Given the description of an element on the screen output the (x, y) to click on. 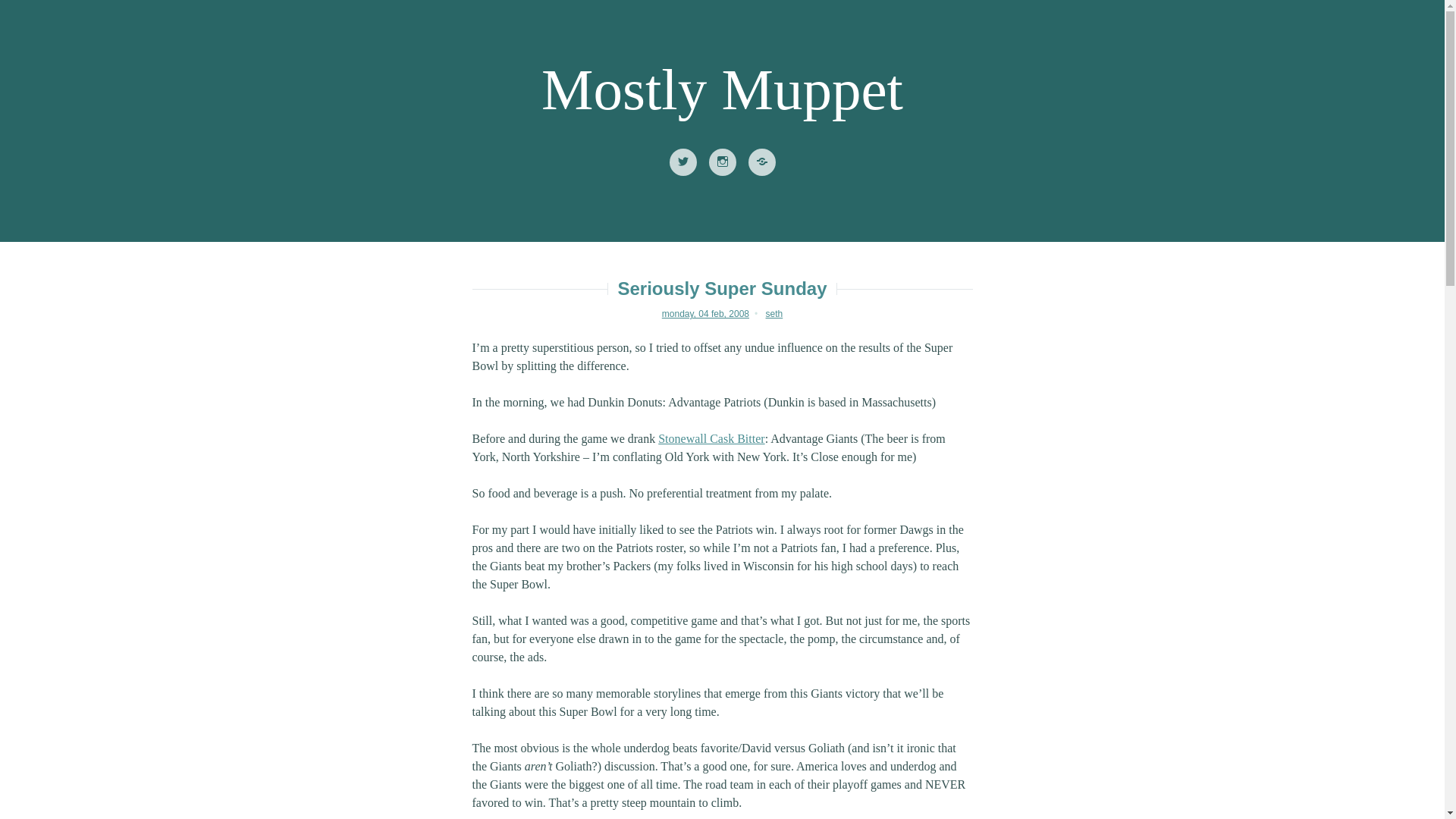
Instagram (721, 162)
monday, 04 feb, 2008 (705, 313)
Mostly Muppet (721, 89)
Stonewall Cask Bitter (711, 438)
Twitter (681, 162)
About Me (760, 162)
seth (774, 313)
